Given the description of an element on the screen output the (x, y) to click on. 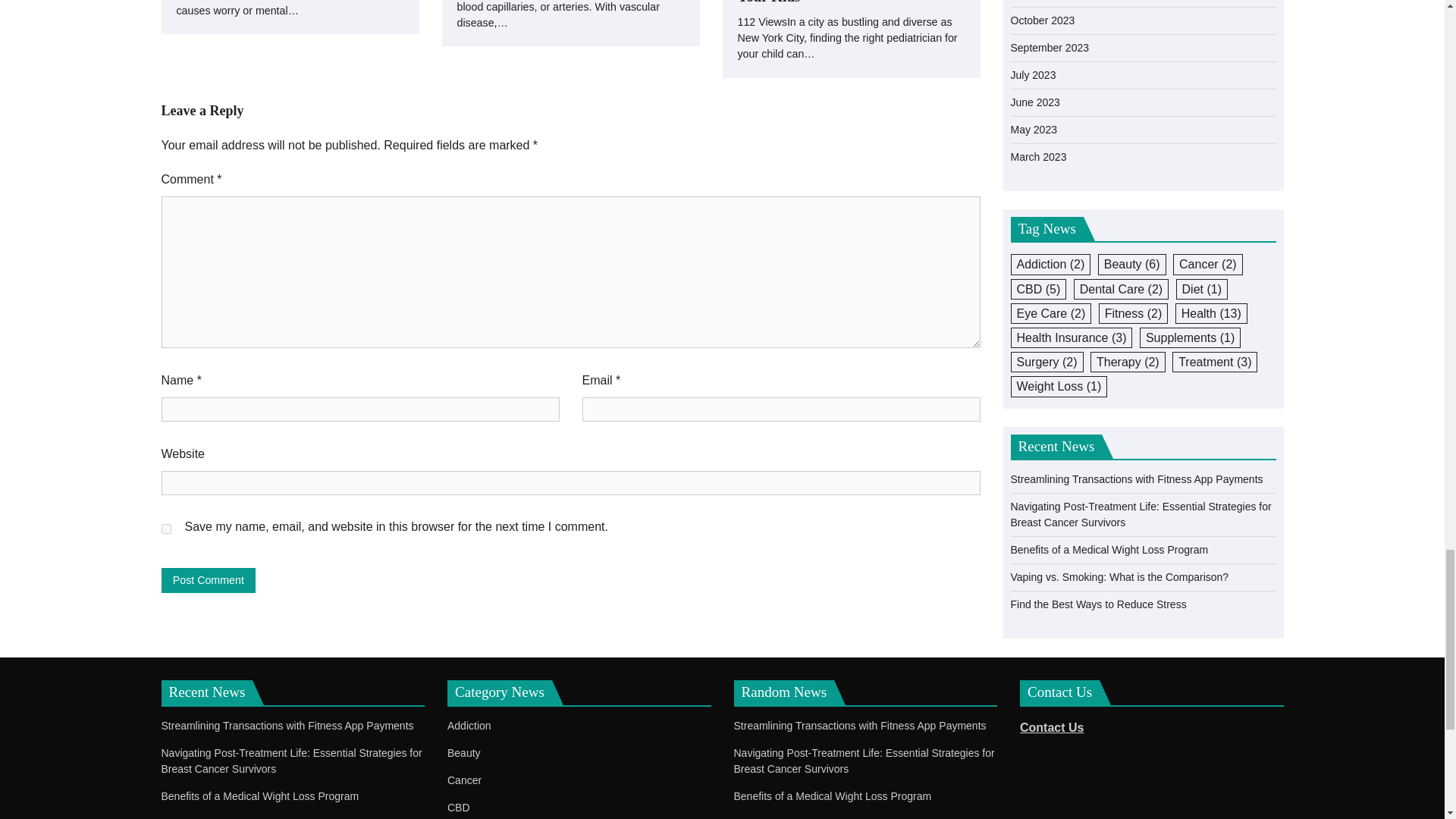
Post Comment (208, 580)
yes (165, 528)
